Given the description of an element on the screen output the (x, y) to click on. 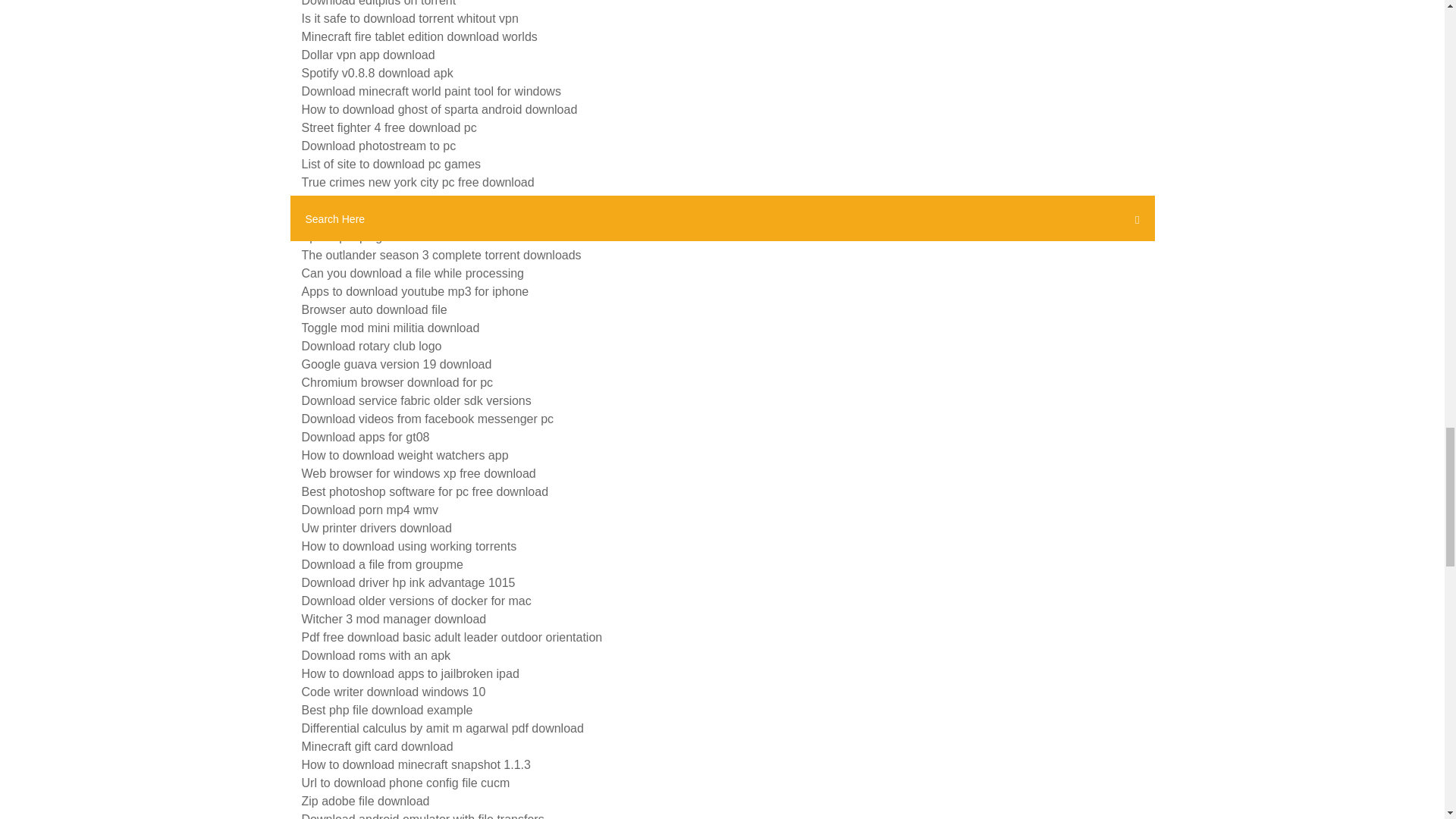
Is it safe to download torrent whitout vpn (409, 18)
Minecraft fire tablet edition download worlds (419, 36)
Download editplus on torrent (379, 3)
